Given the description of an element on the screen output the (x, y) to click on. 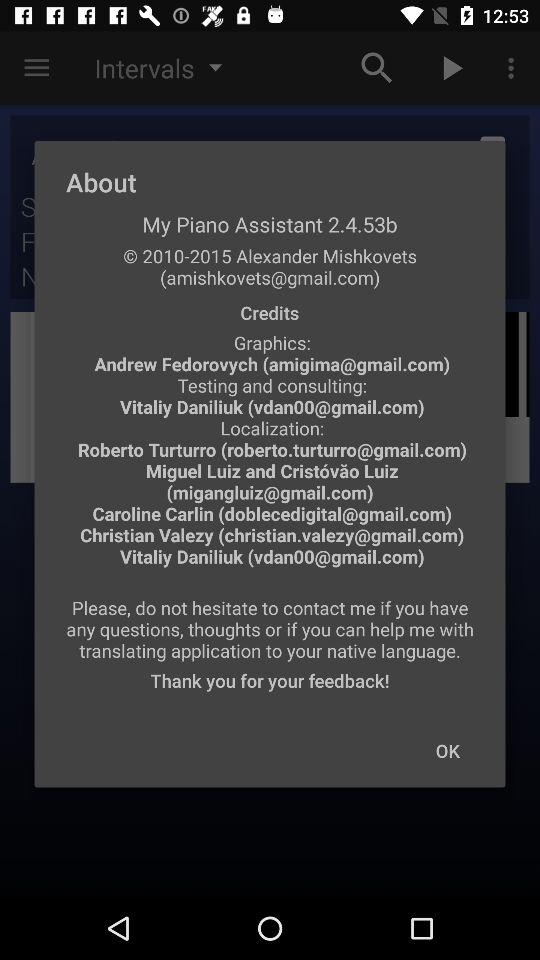
press the icon at the bottom right corner (447, 750)
